Given the description of an element on the screen output the (x, y) to click on. 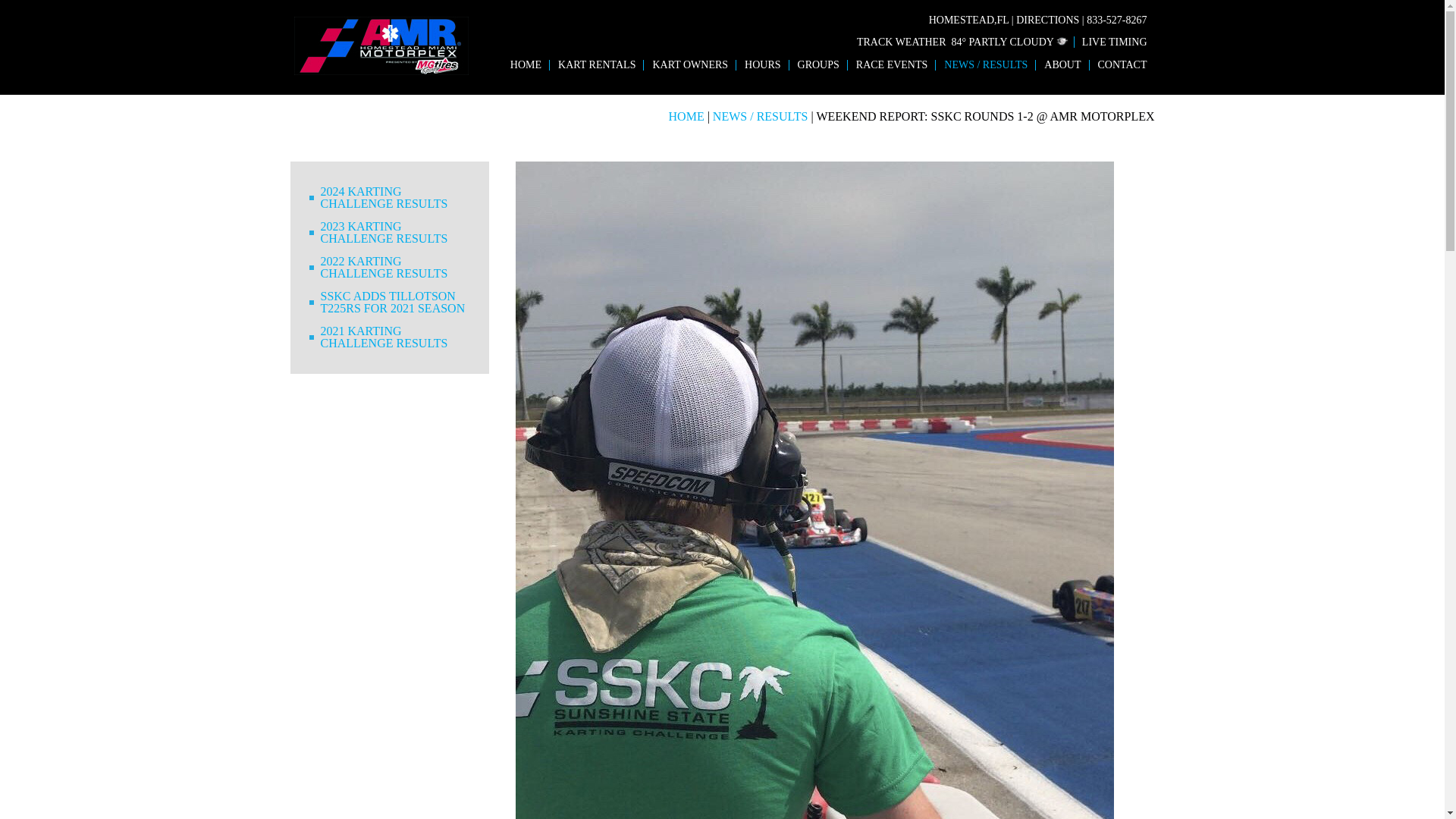
LIVE TIMING (1110, 41)
Live Timing (1110, 41)
2021 KARTING CHALLENGE RESULTS (394, 337)
Last Updated on August 12, 8:37 PM (1062, 41)
TRACK WEATHER (901, 41)
CONTACT (1122, 64)
KART RENTALS (595, 64)
Directions (1047, 19)
GROUPS (818, 64)
HOME (526, 64)
